Given the description of an element on the screen output the (x, y) to click on. 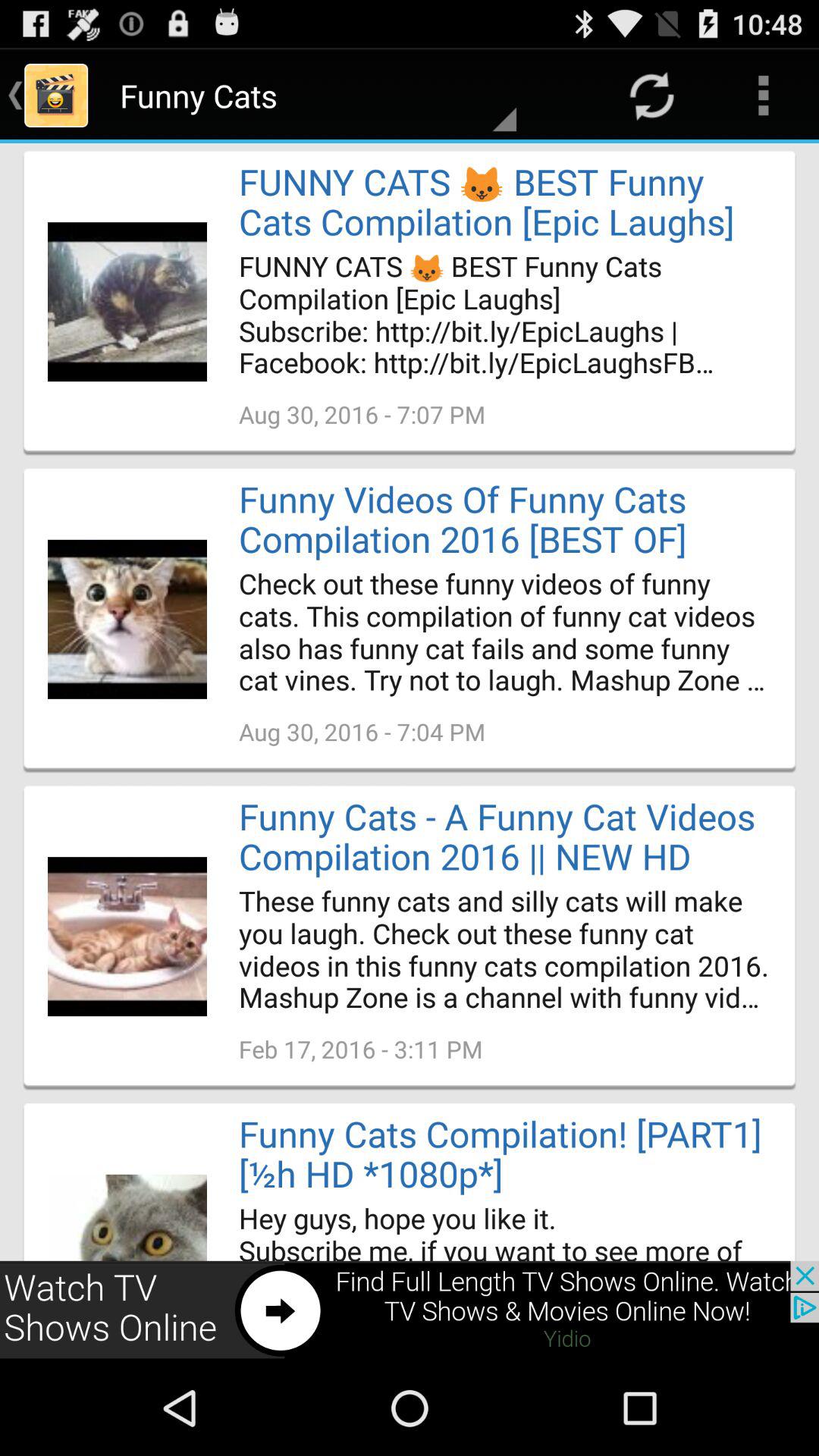
select advertisement (409, 1310)
